Given the description of an element on the screen output the (x, y) to click on. 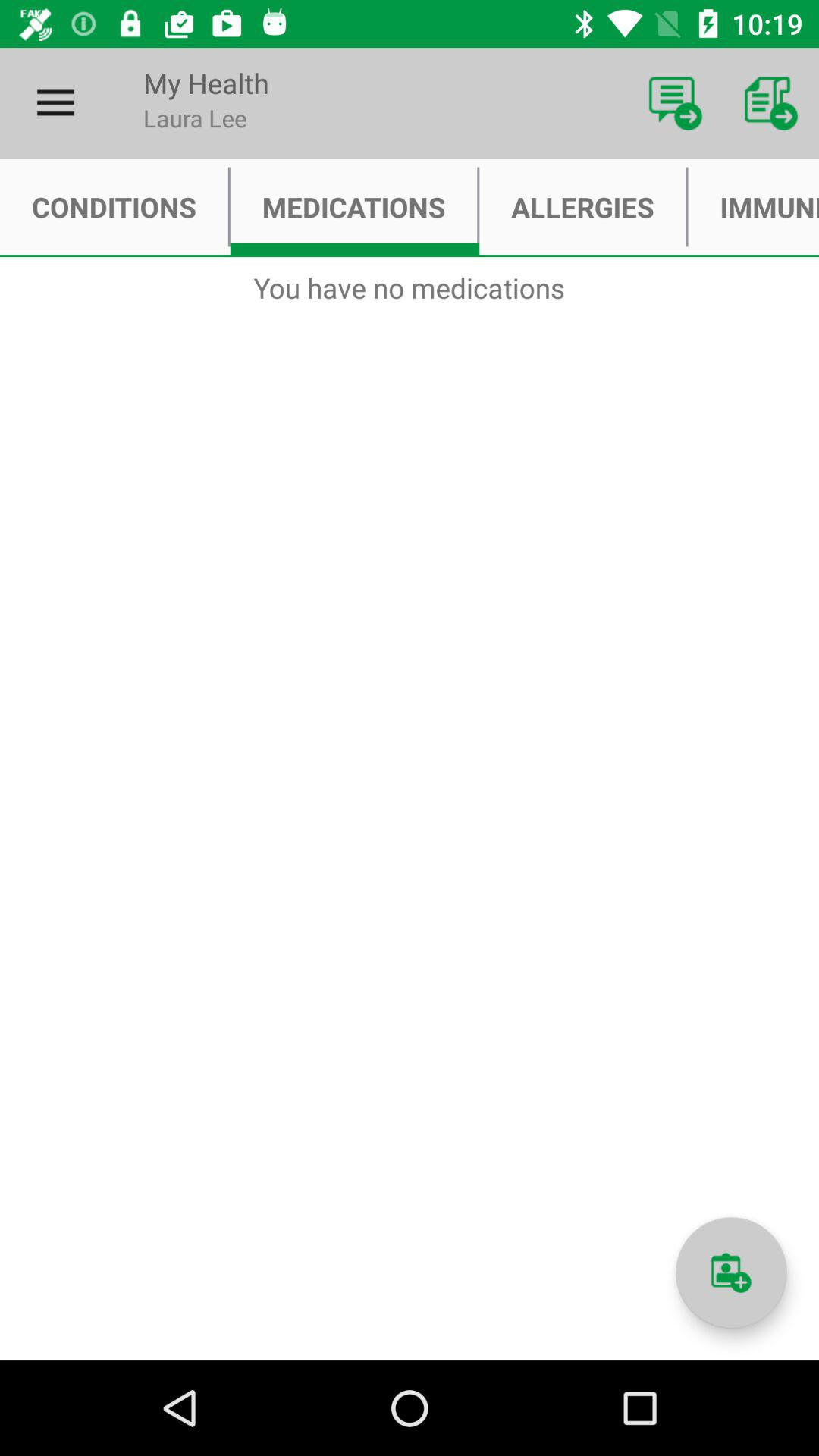
add image button (731, 1272)
